Given the description of an element on the screen output the (x, y) to click on. 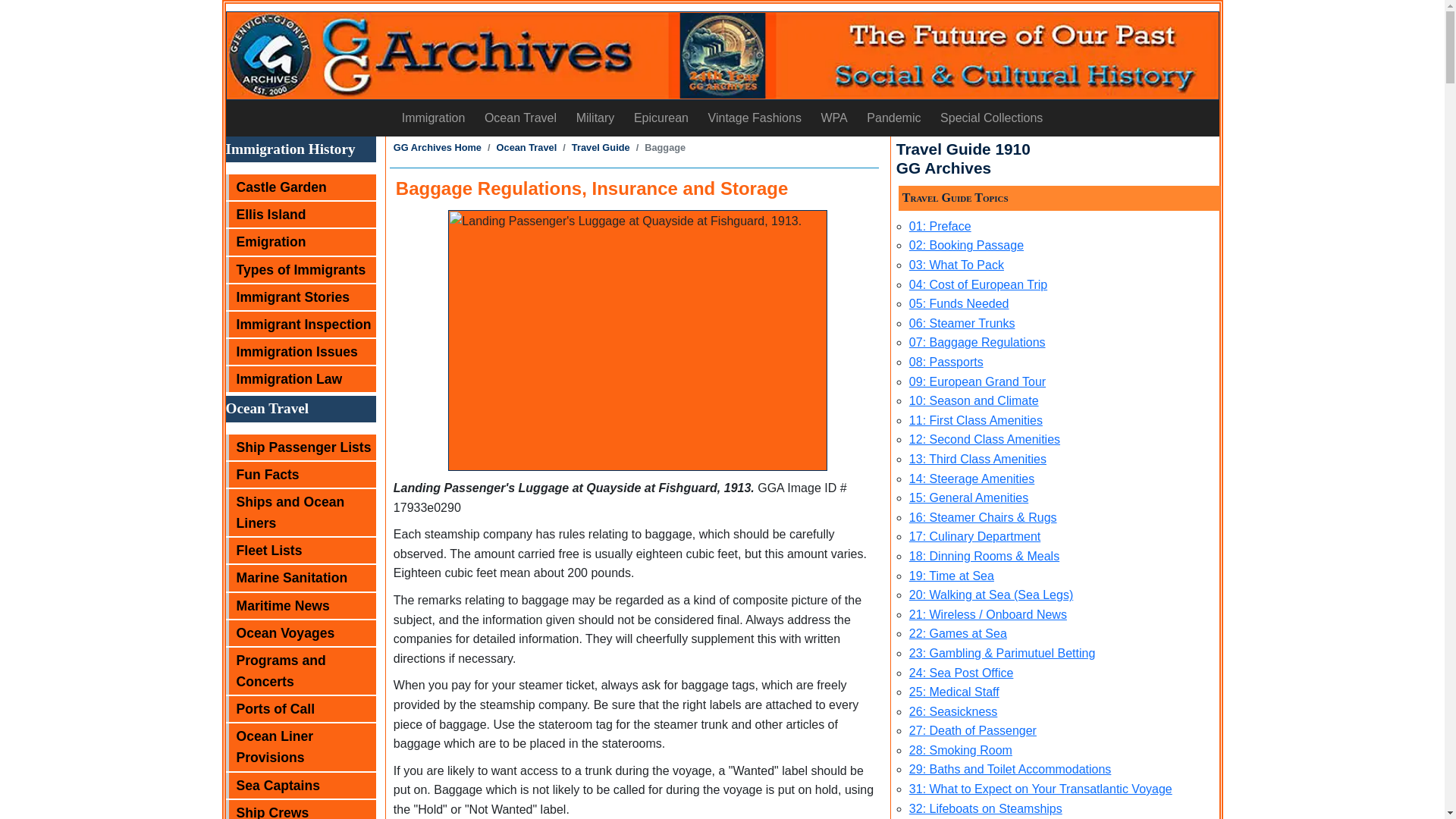
Ship Passenger Lists (300, 447)
Ocean Liner Provisions (300, 746)
Programs and Concerts (300, 670)
Fleet Lists (300, 550)
Military (595, 118)
Maritime News (300, 605)
Immigration (432, 118)
Ocean Voyages (300, 632)
Immigrant Stories (300, 297)
Vintage Fashions (754, 118)
Works Progress Administration (833, 118)
The Influenza Pandemic of 1918-1919 (894, 118)
Ship Crews (300, 809)
Ellis Island (300, 214)
Ocean Travel (520, 118)
